Given the description of an element on the screen output the (x, y) to click on. 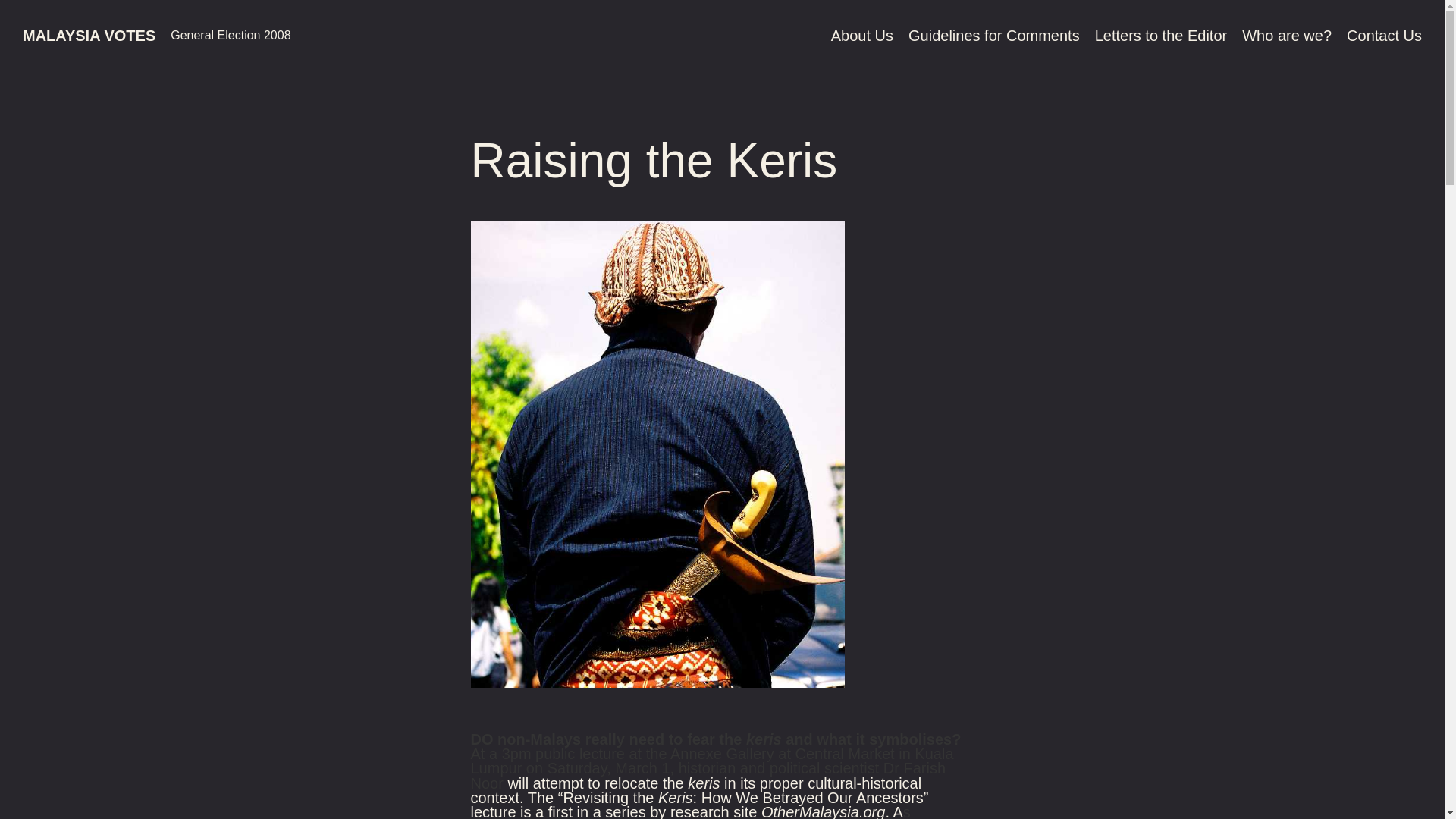
Contact Us (1384, 35)
OtherMalaysia.org (823, 811)
Letters to the Editor (1160, 35)
Who are we? (1286, 35)
About Us (862, 35)
Guidelines for Comments (994, 35)
MALAYSIA VOTES (89, 35)
